Given the description of an element on the screen output the (x, y) to click on. 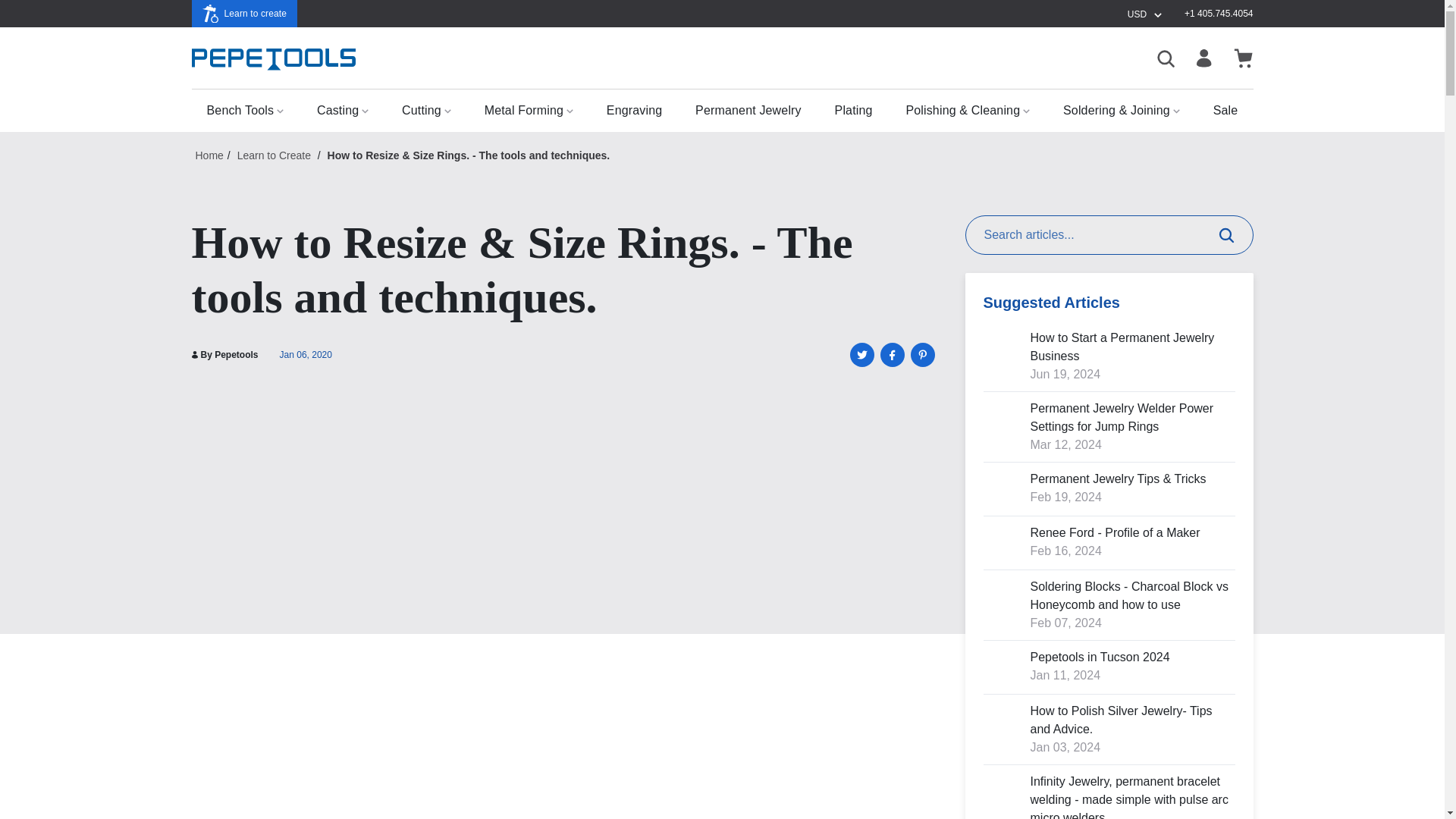
Bench Tools (244, 110)
Cutting (426, 110)
Casting (342, 110)
Learn to create (243, 13)
USD (1144, 14)
